Given the description of an element on the screen output the (x, y) to click on. 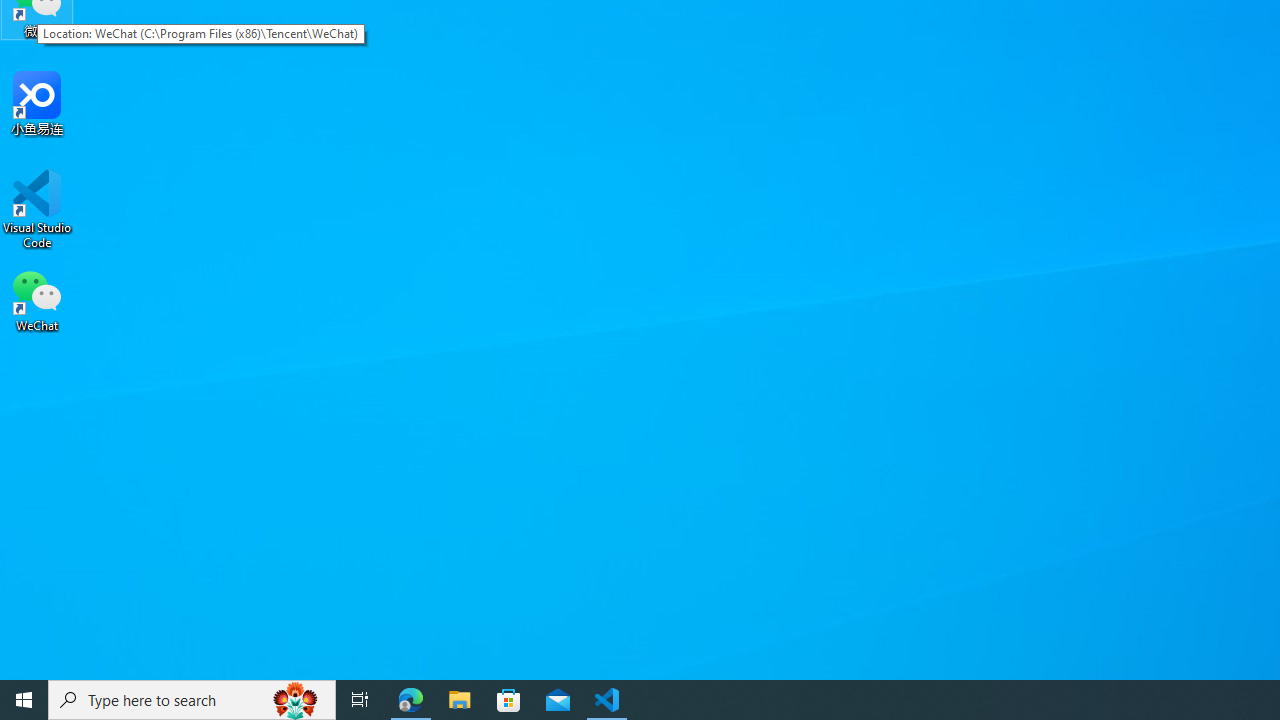
Search highlights icon opens search home window (295, 699)
WeChat (37, 299)
Visual Studio Code (37, 209)
Visual Studio Code - 1 running window (607, 699)
Microsoft Edge - 1 running window (411, 699)
Start (24, 699)
File Explorer (460, 699)
Microsoft Store (509, 699)
Task View (359, 699)
Type here to search (191, 699)
